Given the description of an element on the screen output the (x, y) to click on. 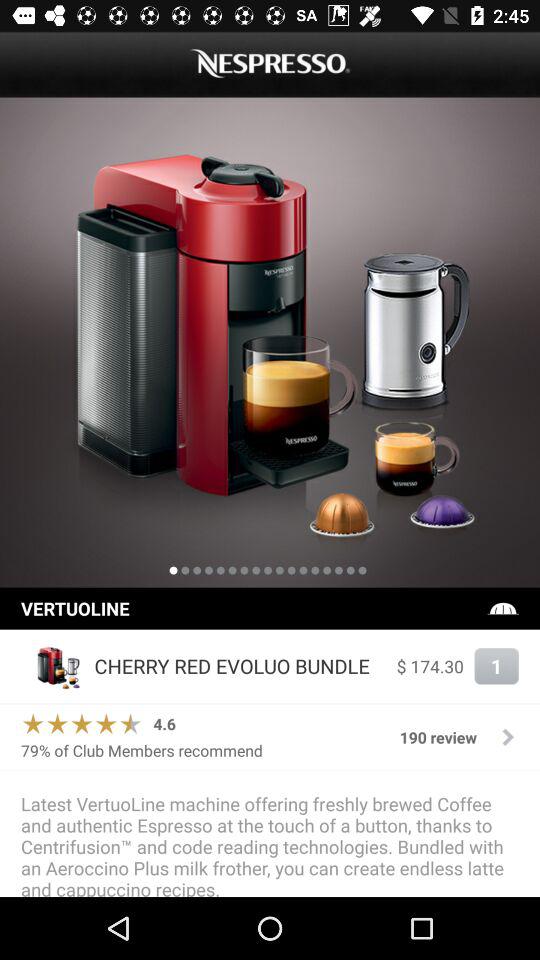
open item to the left of the 1 (429, 666)
